Given the description of an element on the screen output the (x, y) to click on. 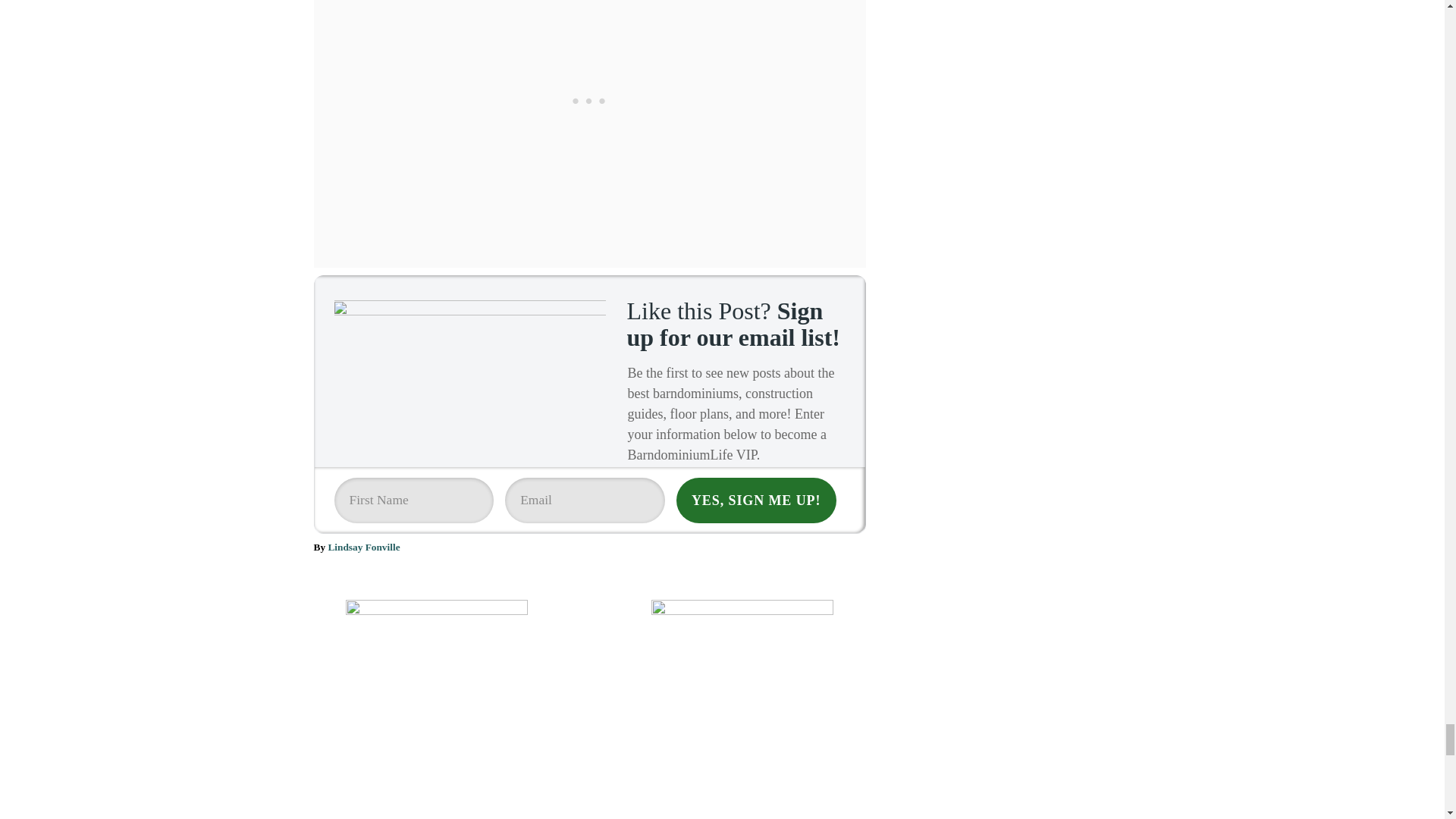
luxury-barndominium (472, 370)
